Given the description of an element on the screen output the (x, y) to click on. 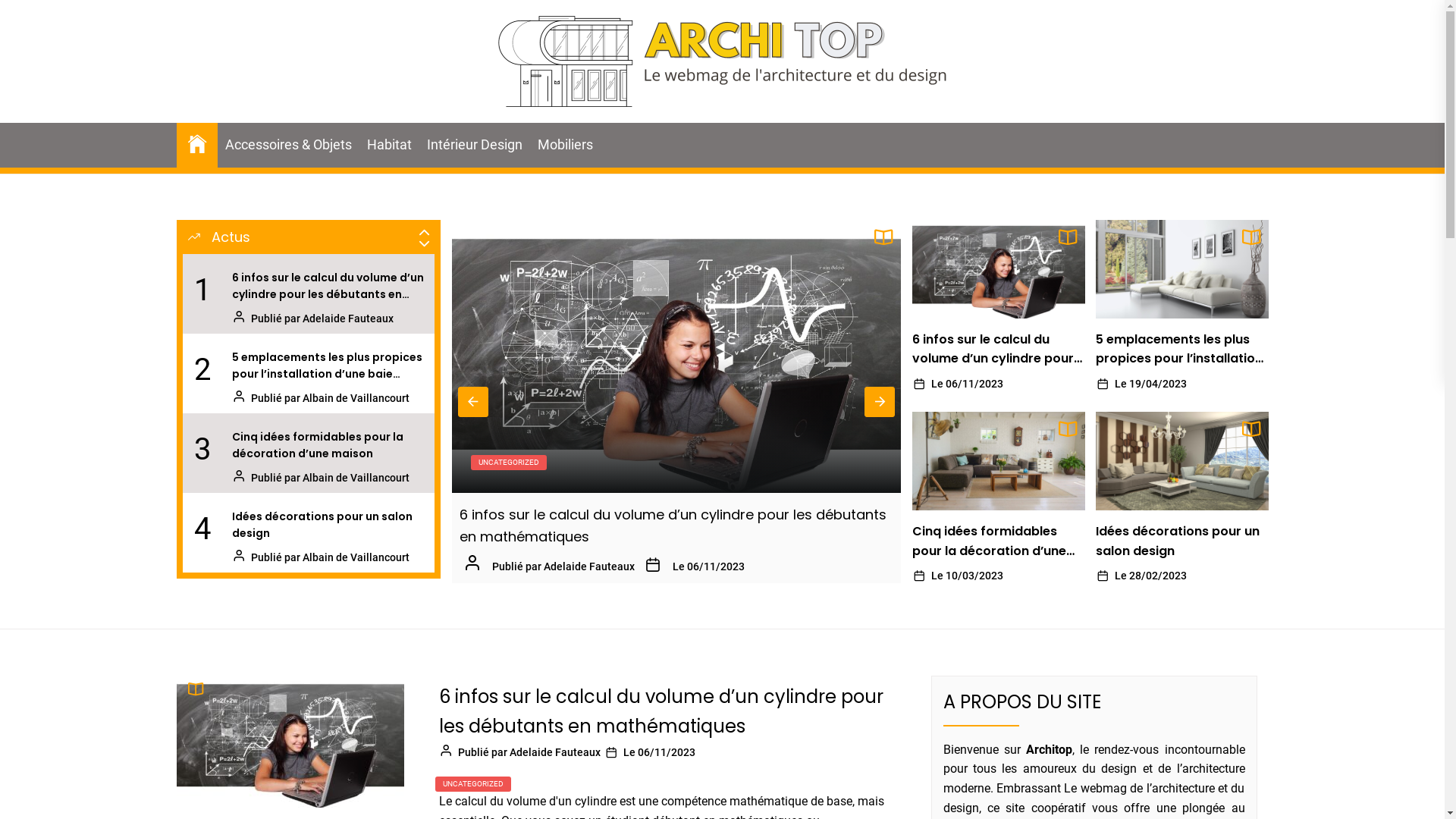
Albain de Vaillancourt Element type: text (596, 545)
Previous Element type: text (473, 401)
UNCATEGORIZED Element type: text (473, 783)
10/03/2023 Element type: text (973, 575)
Adelaide Fauteaux Element type: text (346, 318)
06/11/2023 Element type: text (973, 383)
Albain de Vaillancourt Element type: text (354, 398)
Adelaide Fauteaux Element type: text (554, 752)
Mobiliers Element type: text (564, 145)
Architop Element type: text (225, 126)
Albain de Vaillancourt Element type: text (354, 557)
Next Element type: text (879, 401)
Accessoires & Objets Element type: text (287, 145)
25/05/2021 Element type: text (731, 545)
ACCESSOIRES & OBJETS Element type: text (521, 462)
06/11/2023 Element type: text (666, 752)
Home Element type: hover (195, 142)
Albain de Vaillancourt Element type: text (354, 477)
28/02/2023 Element type: text (1157, 575)
19/04/2023 Element type: text (1157, 383)
Habitat Element type: text (389, 145)
